Given the description of an element on the screen output the (x, y) to click on. 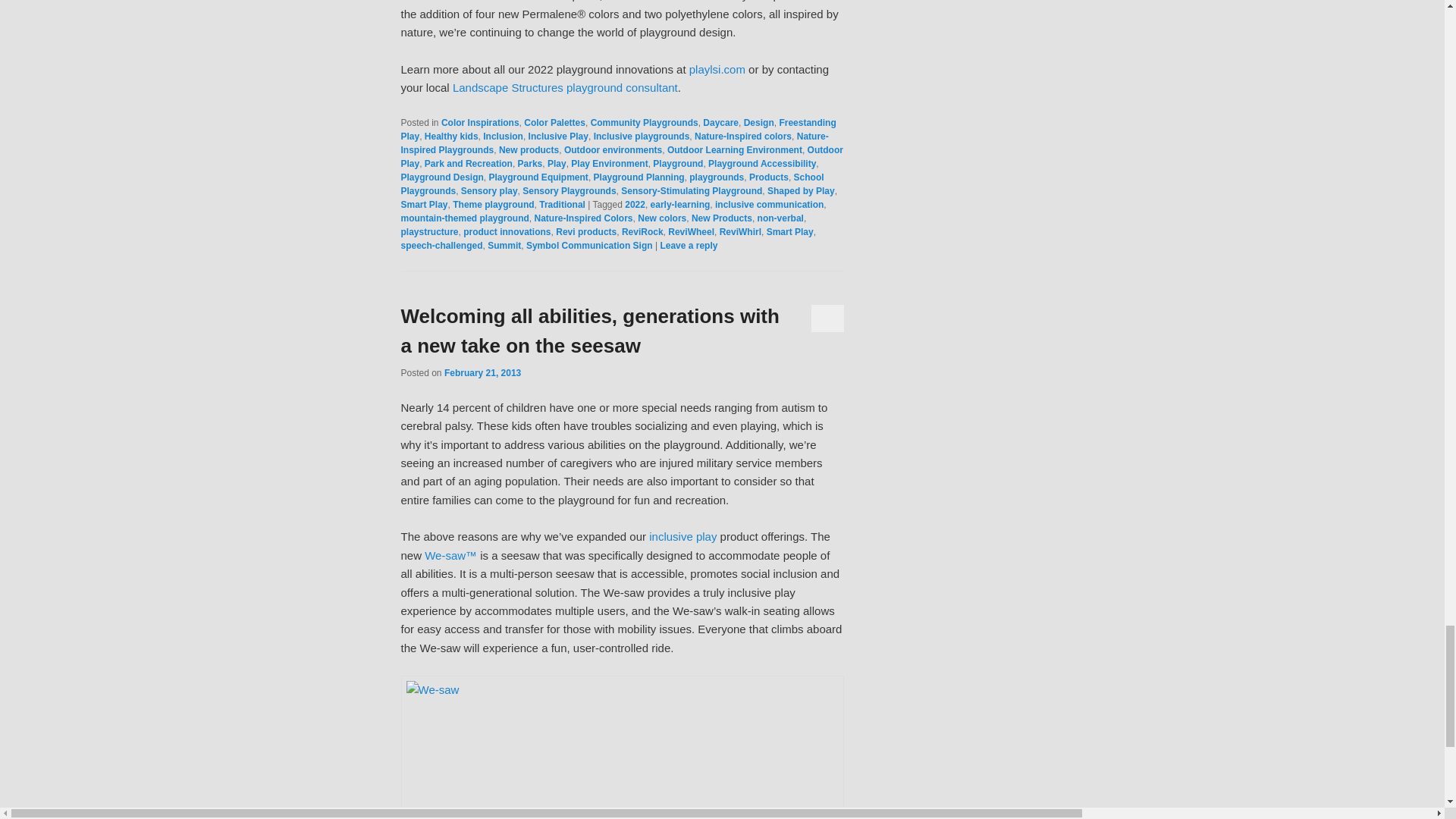
Outdoor environments (613, 149)
Nature-Inspired colors (743, 136)
Inclusive playgrounds (642, 136)
1:08 pm (482, 372)
Color Palettes (554, 122)
playlsi.com (716, 69)
Inclusive Play (558, 136)
Color Inspirations (480, 122)
Freestanding Play (617, 129)
